Given the description of an element on the screen output the (x, y) to click on. 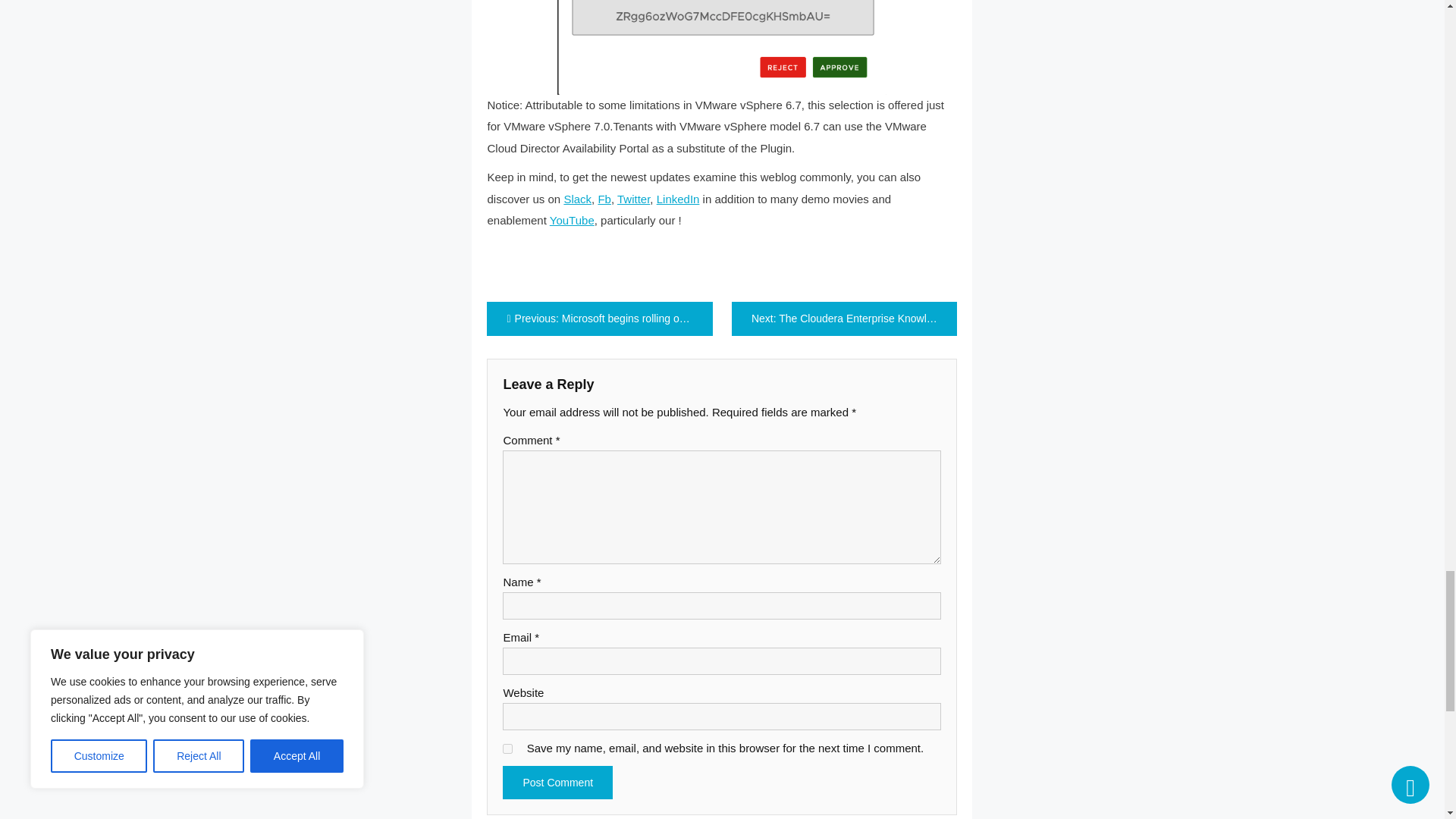
yes (507, 748)
Post Comment (557, 782)
